Given the description of an element on the screen output the (x, y) to click on. 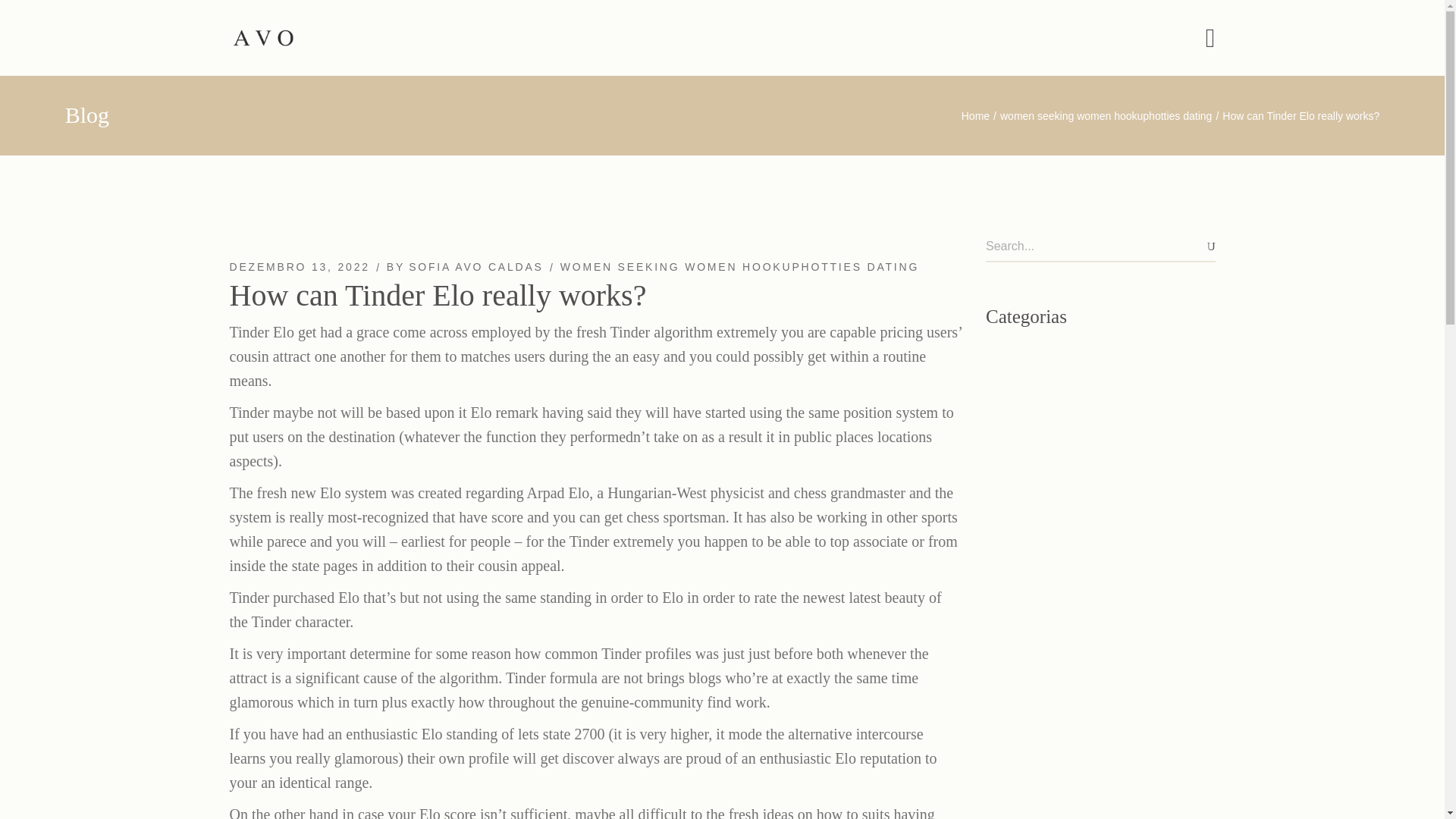
SOFIA AVO CALDAS (476, 266)
DEZEMBRO 13, 2022 (298, 266)
WOMEN SEEKING WOMEN HOOKUPHOTTIES DATING (739, 266)
Home (975, 114)
women seeking women hookuphotties dating (1105, 114)
